Given the description of an element on the screen output the (x, y) to click on. 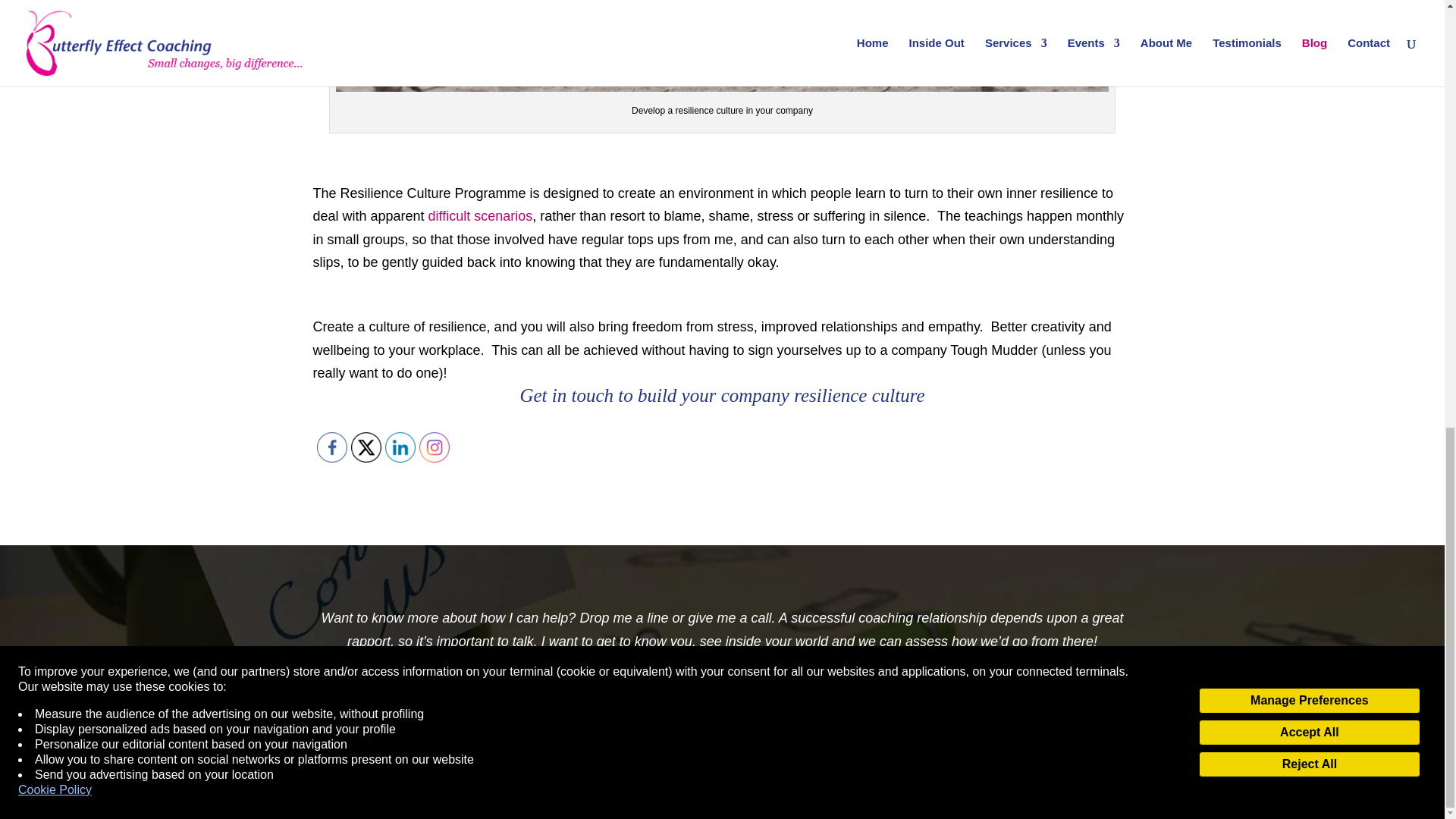
Terms of use (684, 795)
Facebook (332, 447)
Privacy policy (612, 795)
Twitter (365, 447)
LinkedIn (399, 447)
INSTAGRAM (433, 447)
Website by Lollipop Digital Marketing (860, 795)
